Given the description of an element on the screen output the (x, y) to click on. 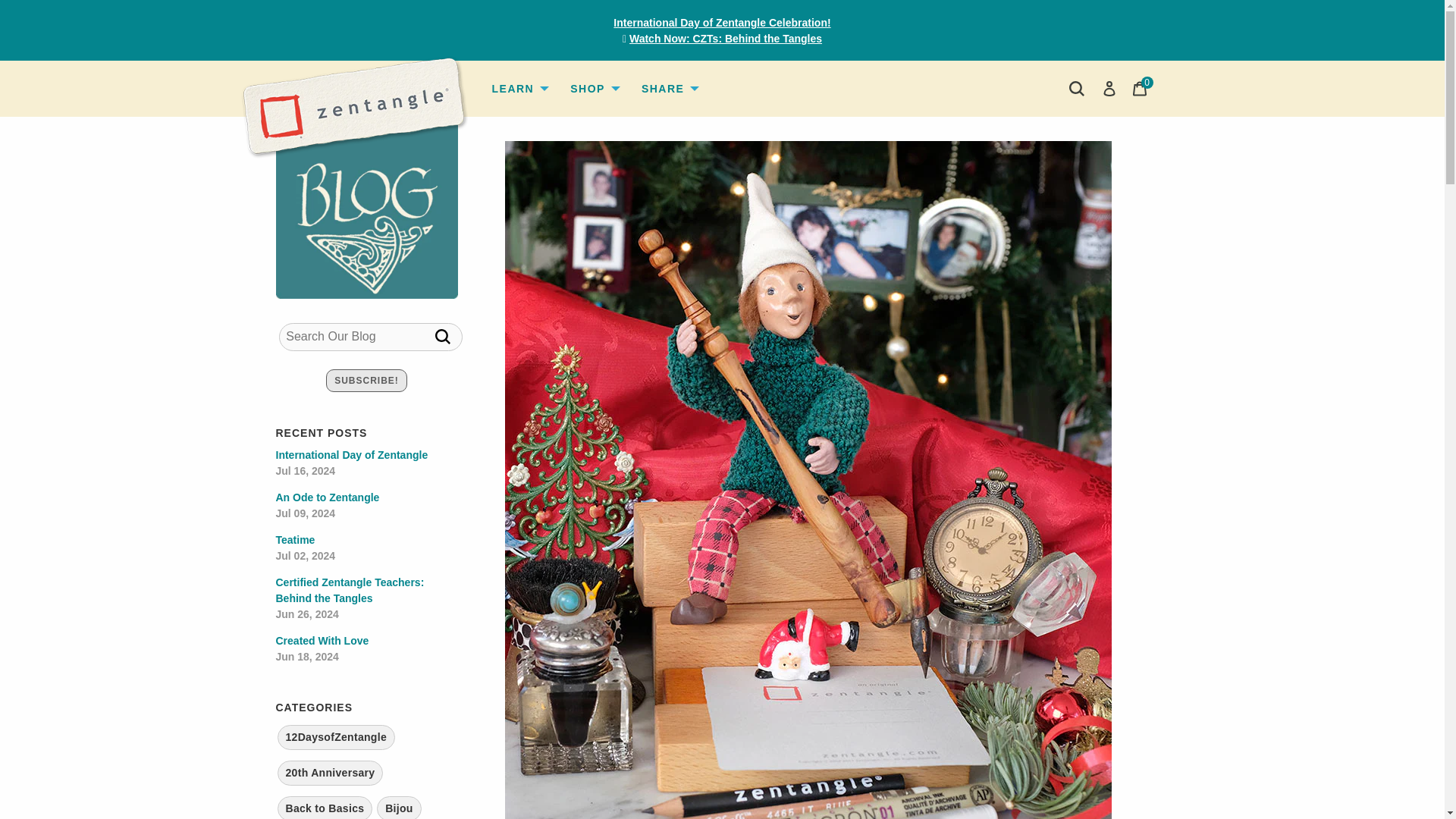
SHARE (668, 88)
Show articles tagged 12DaysofZentangle (336, 737)
SHOP (592, 88)
Show articles tagged 20th Anniversary (331, 772)
LEARN (518, 88)
Show articles tagged Bijou (399, 807)
SUBSCRIBE! (366, 380)
0 (1140, 88)
Show articles tagged Back to Basics (325, 807)
Watch Now: CZTs: Behind the Tangles (725, 38)
International Day of Zentangle Celebration! (720, 23)
